Given the description of an element on the screen output the (x, y) to click on. 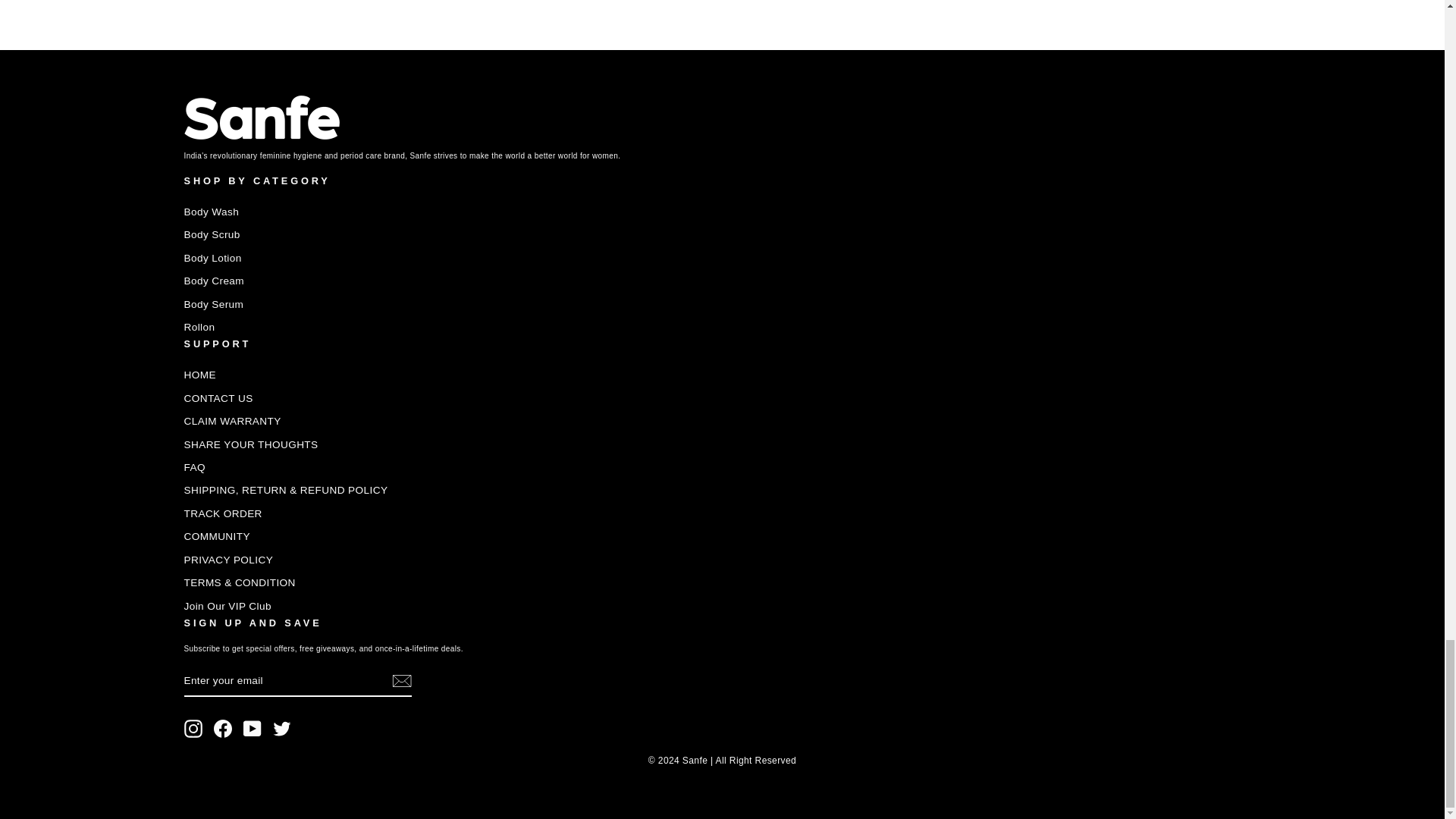
Sanfe on Facebook (222, 728)
Sanfe on Instagram (192, 728)
icon-email (400, 680)
Sanfe on YouTube (251, 728)
instagram (192, 728)
Sanfe on Twitter (282, 728)
